Given the description of an element on the screen output the (x, y) to click on. 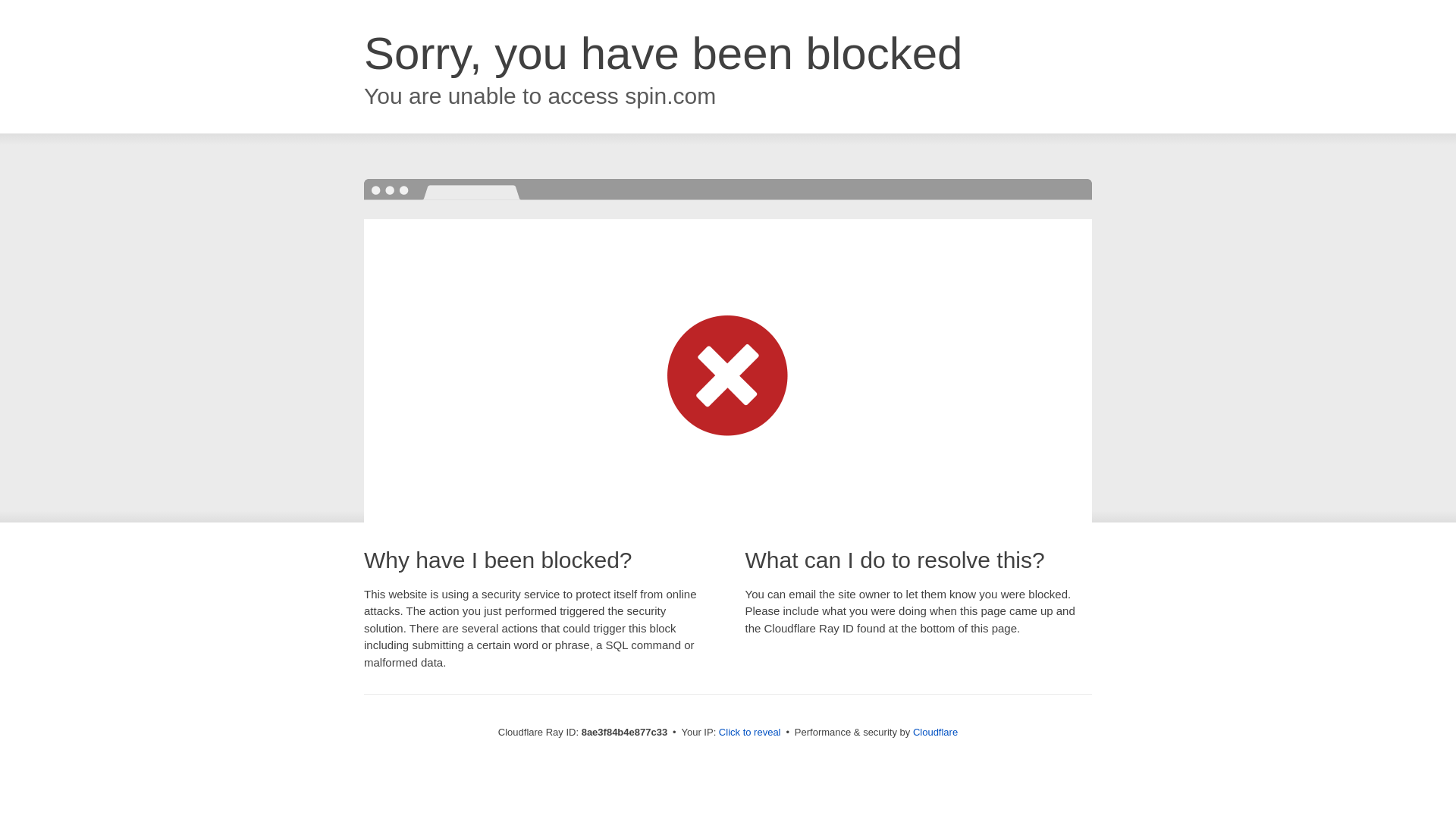
Click to reveal (749, 732)
Cloudflare (935, 731)
